Given the description of an element on the screen output the (x, y) to click on. 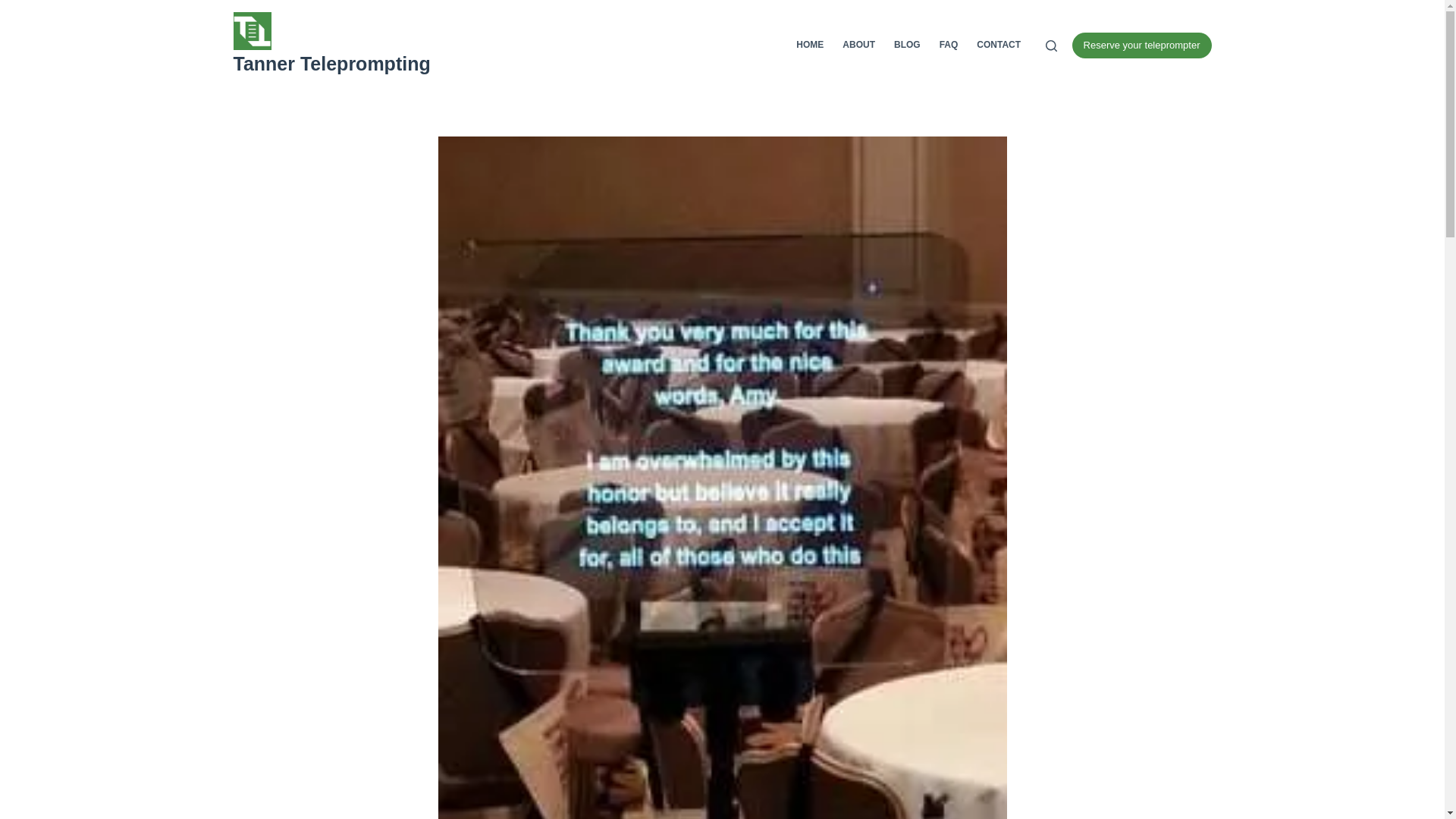
Tanner Teleprompting (331, 63)
Skip to content (15, 7)
Reserve your teleprompter (1141, 45)
